Given the description of an element on the screen output the (x, y) to click on. 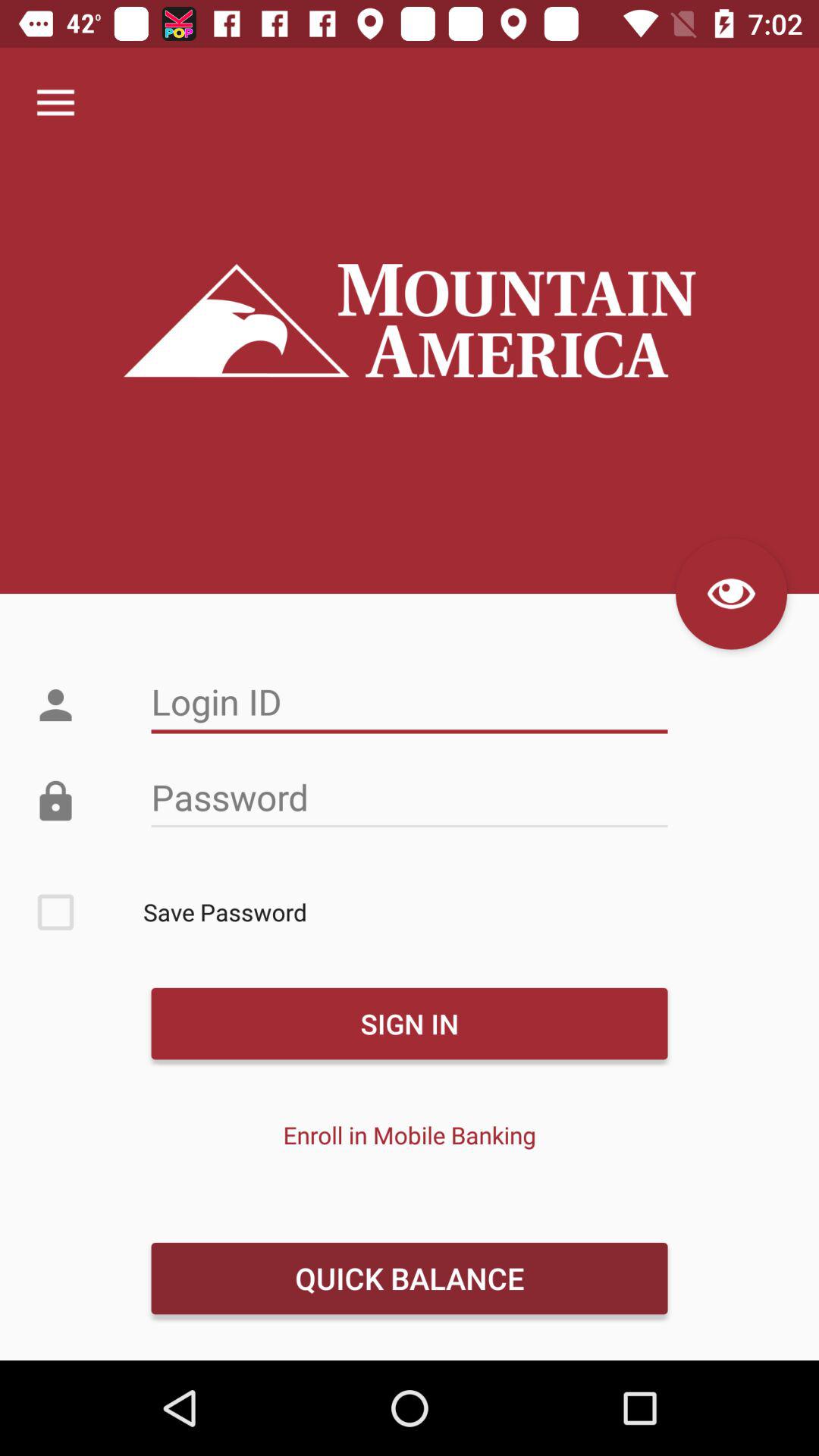
click the icon at the top left corner (55, 103)
